Given the description of an element on the screen output the (x, y) to click on. 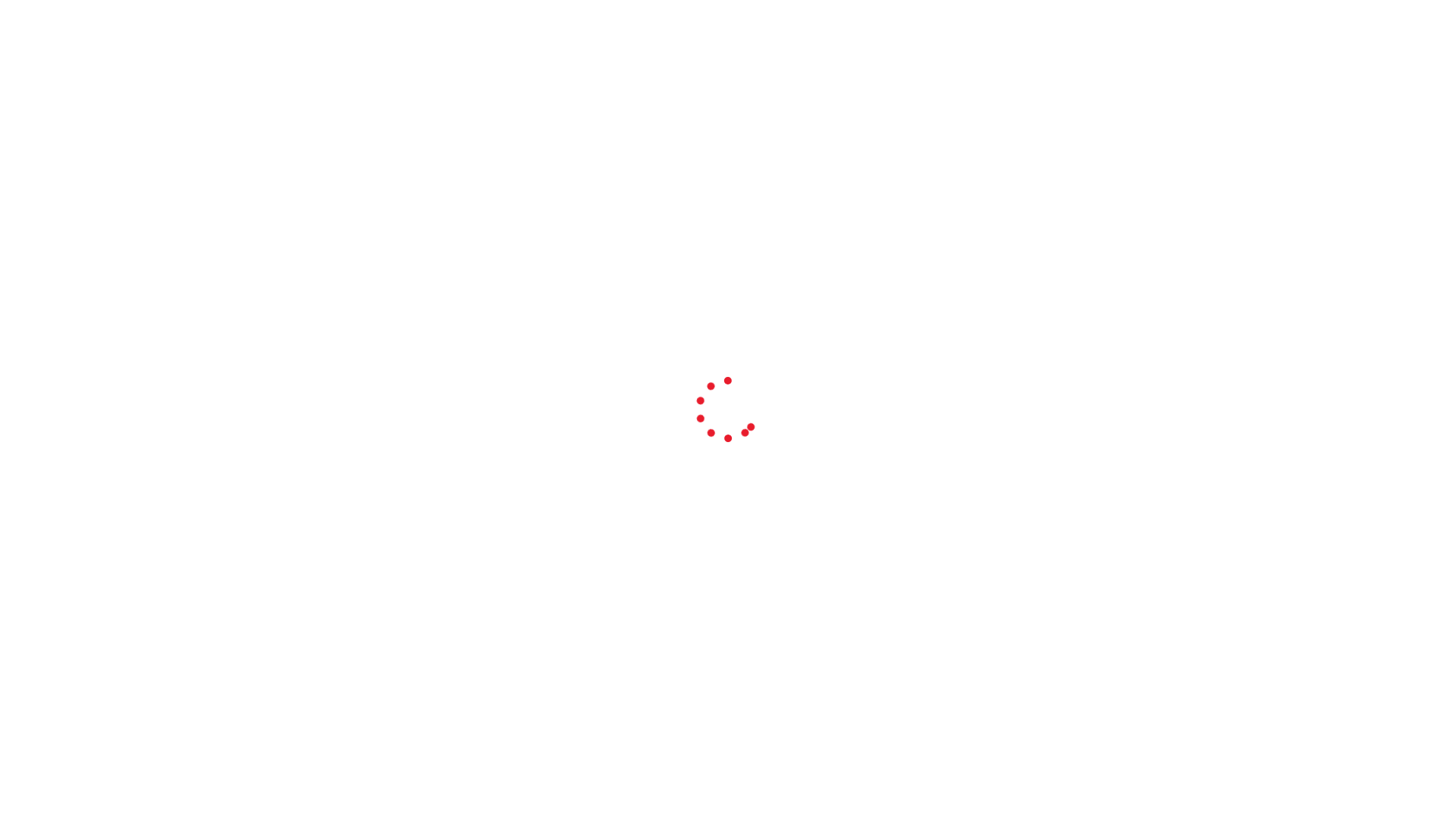
+375 (29) 669-87-46 Viber Element type: text (1066, 60)
dizelkama@yandex.ru Element type: text (389, 59)
Filmant Performance Filter Element type: text (731, 16)
+375 (29) 669-87-46 Element type: text (1066, 84)
